Given the description of an element on the screen output the (x, y) to click on. 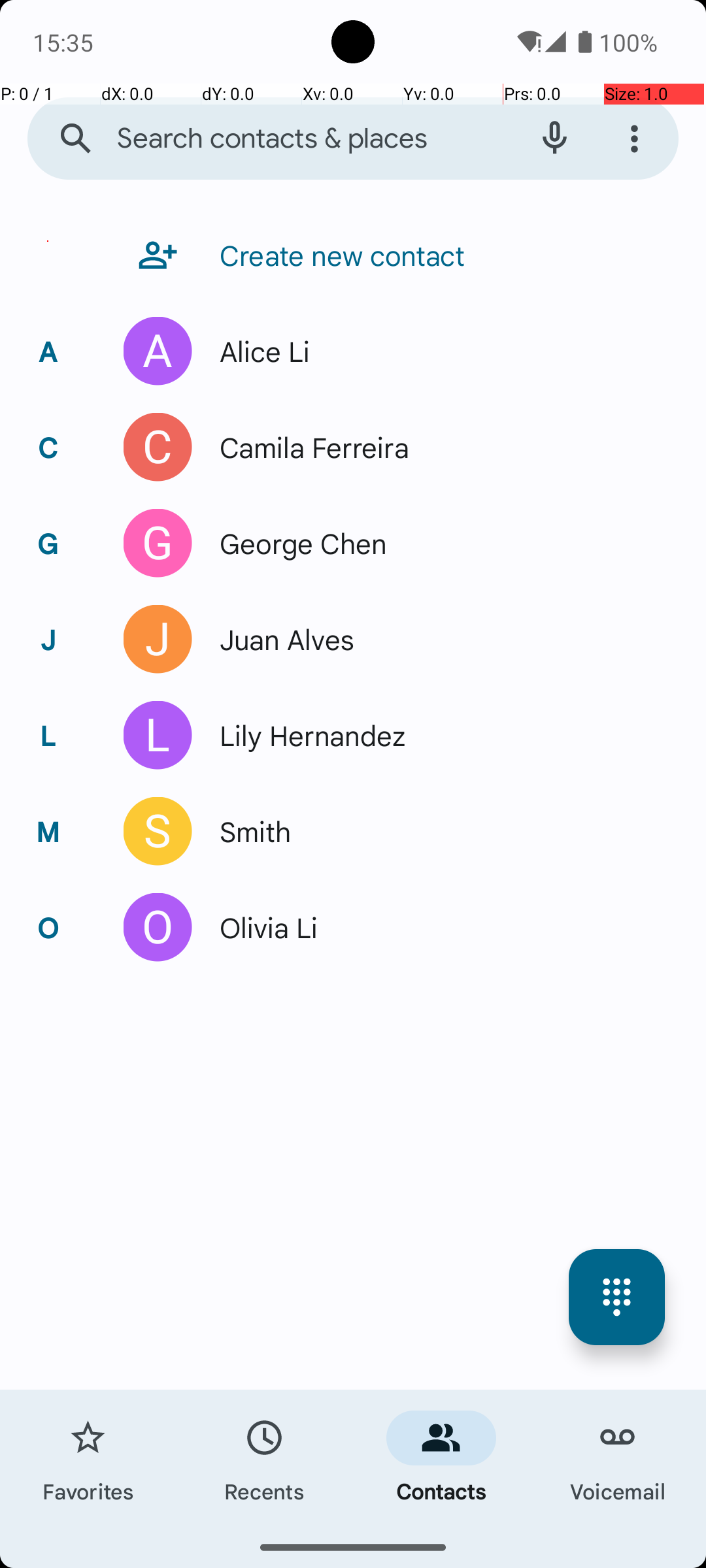
key pad Element type: android.widget.ImageButton (616, 1297)
Voicemail Element type: android.widget.FrameLayout (617, 1457)
Quick contact for Alice Li Element type: android.widget.QuickContactBadge (157, 350)
Alice Li Element type: android.widget.TextView (257, 350)
Quick contact for Camila Ferreira Element type: android.widget.QuickContactBadge (157, 446)
Camila Ferreira Element type: android.widget.TextView (307, 446)
Quick contact for George Chen Element type: android.widget.QuickContactBadge (157, 542)
George Chen Element type: android.widget.TextView (296, 542)
Quick contact for Juan Alves Element type: android.widget.QuickContactBadge (157, 638)
Juan Alves Element type: android.widget.TextView (280, 638)
Quick contact for Lily Hernandez Element type: android.widget.QuickContactBadge (157, 735)
Lily Hernandez Element type: android.widget.TextView (305, 735)
Quick contact for Smith Element type: android.widget.QuickContactBadge (157, 831)
Smith Element type: android.widget.TextView (248, 831)
Quick contact for Olivia Li Element type: android.widget.QuickContactBadge (157, 927)
Olivia Li Element type: android.widget.TextView (261, 927)
